Given the description of an element on the screen output the (x, y) to click on. 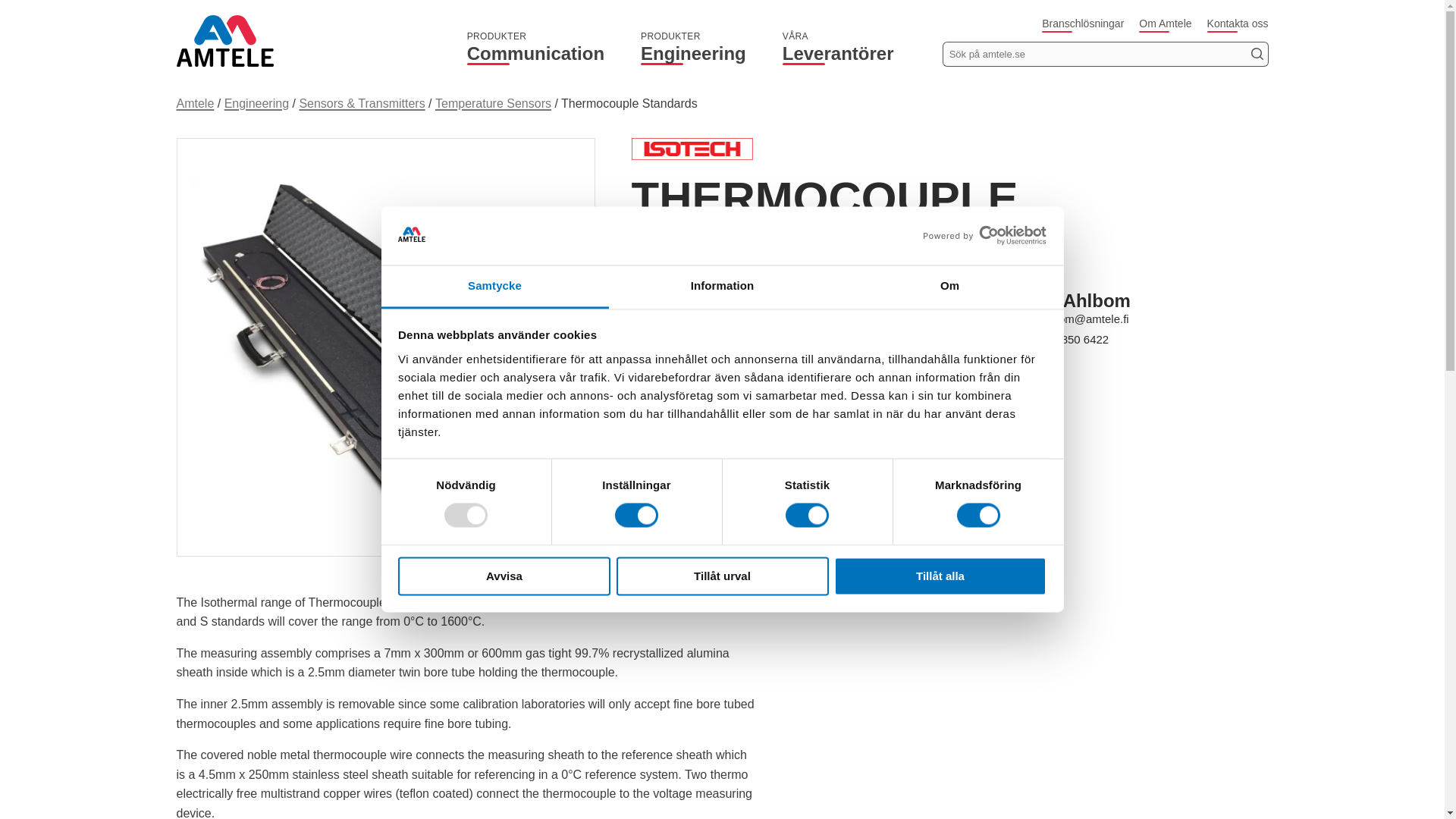
Om (535, 46)
Samtycke (948, 286)
Avvisa (494, 286)
Information (503, 575)
